Given the description of an element on the screen output the (x, y) to click on. 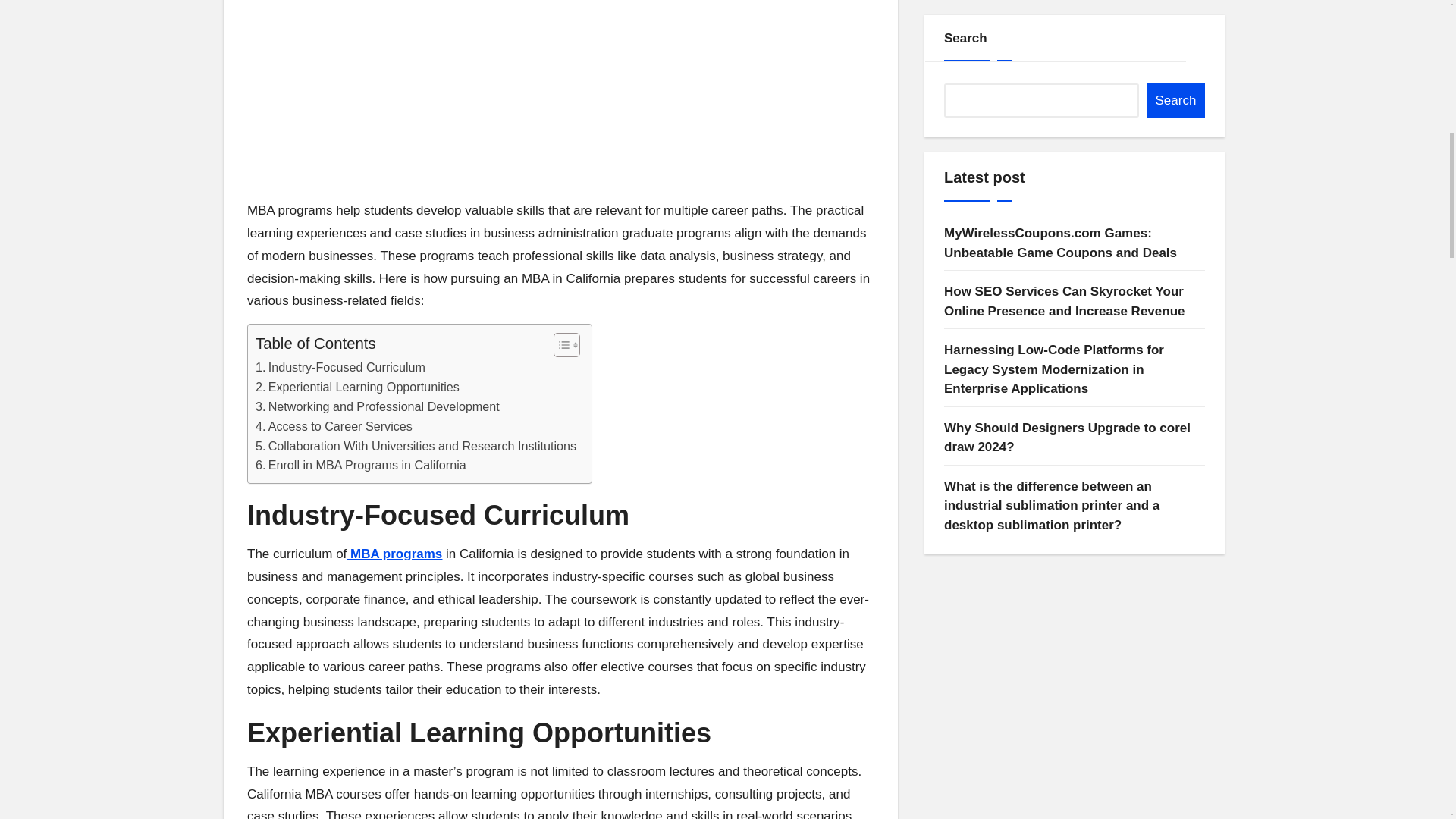
Industry-Focused Curriculum (340, 367)
Experiential Learning Opportunities (358, 387)
Enroll in MBA Programs in California (360, 465)
Collaboration With Universities and Research Institutions (416, 446)
Networking and Professional Development (377, 406)
Access to Career Services (334, 426)
